Given the description of an element on the screen output the (x, y) to click on. 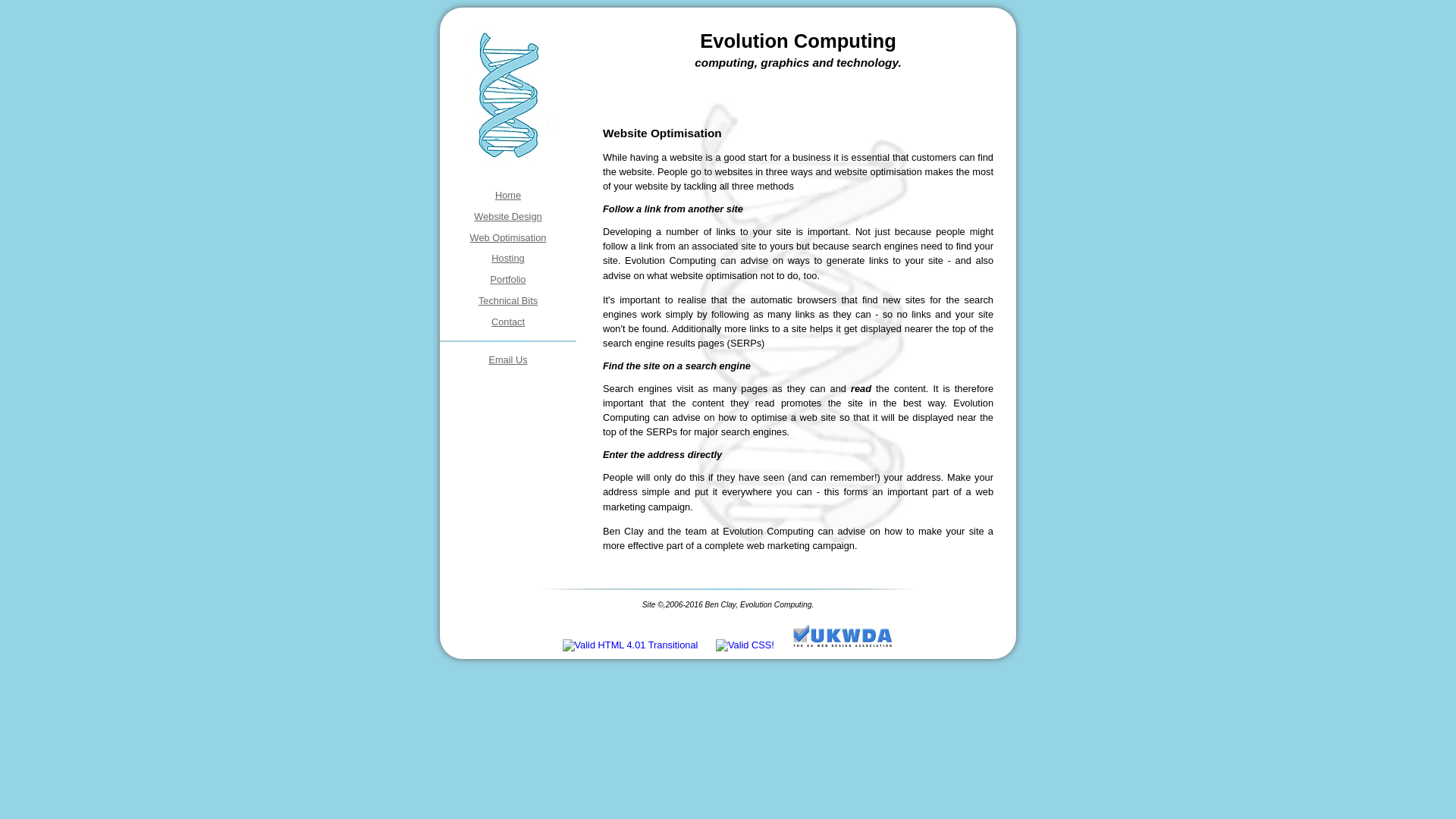
Web Optimisation (508, 237)
Hosting (508, 257)
Home (508, 194)
Technical Bits (508, 300)
Email Us (507, 359)
Contact (508, 321)
Portfolio (507, 279)
Website Design (507, 215)
